Given the description of an element on the screen output the (x, y) to click on. 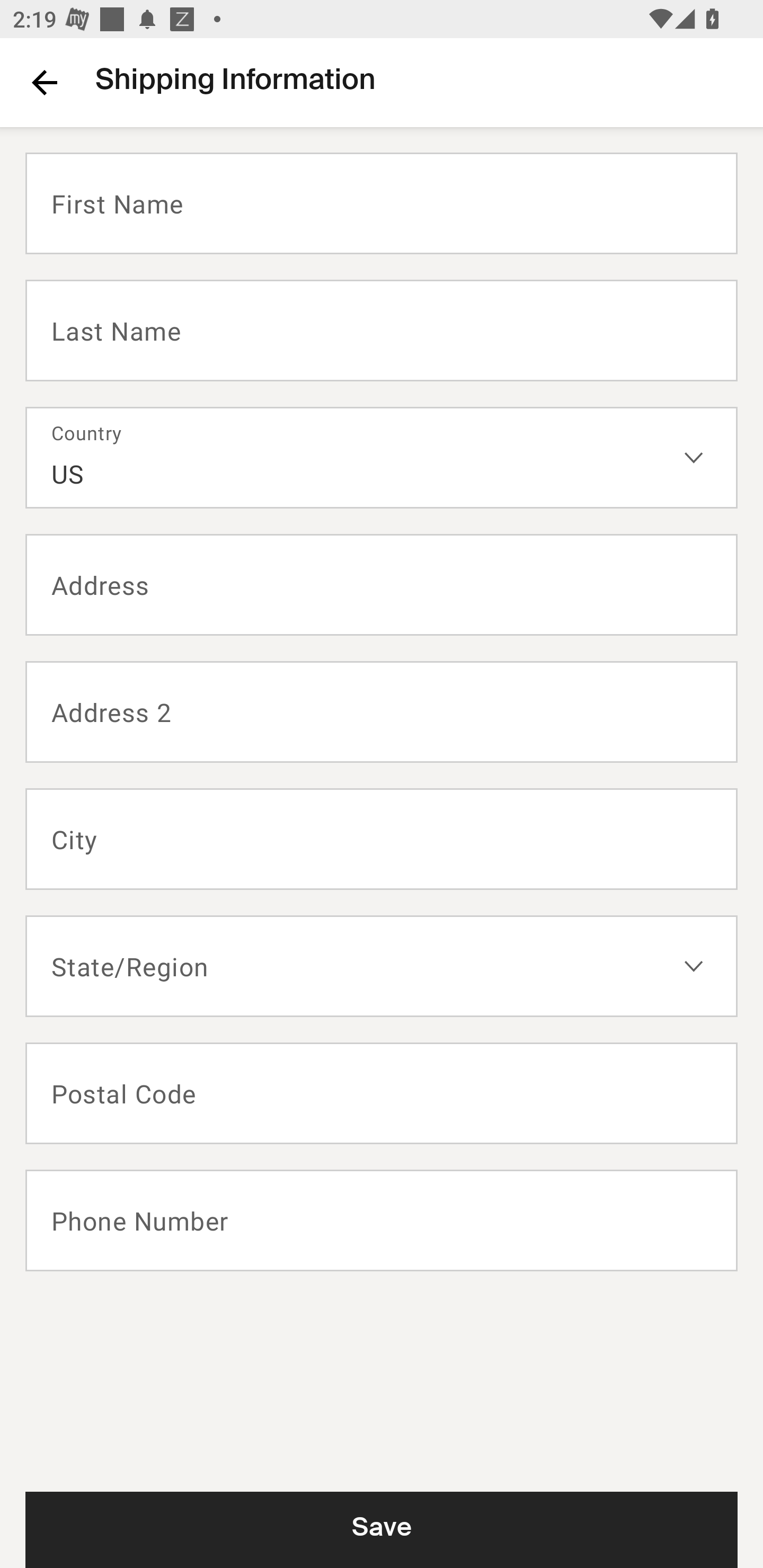
Navigate up (44, 82)
First Name (381, 203)
Last Name (381, 330)
Address (381, 584)
Address 2 (381, 711)
City (381, 839)
Postal Code (381, 1093)
Phone Number (381, 1220)
Save (381, 1529)
